Given the description of an element on the screen output the (x, y) to click on. 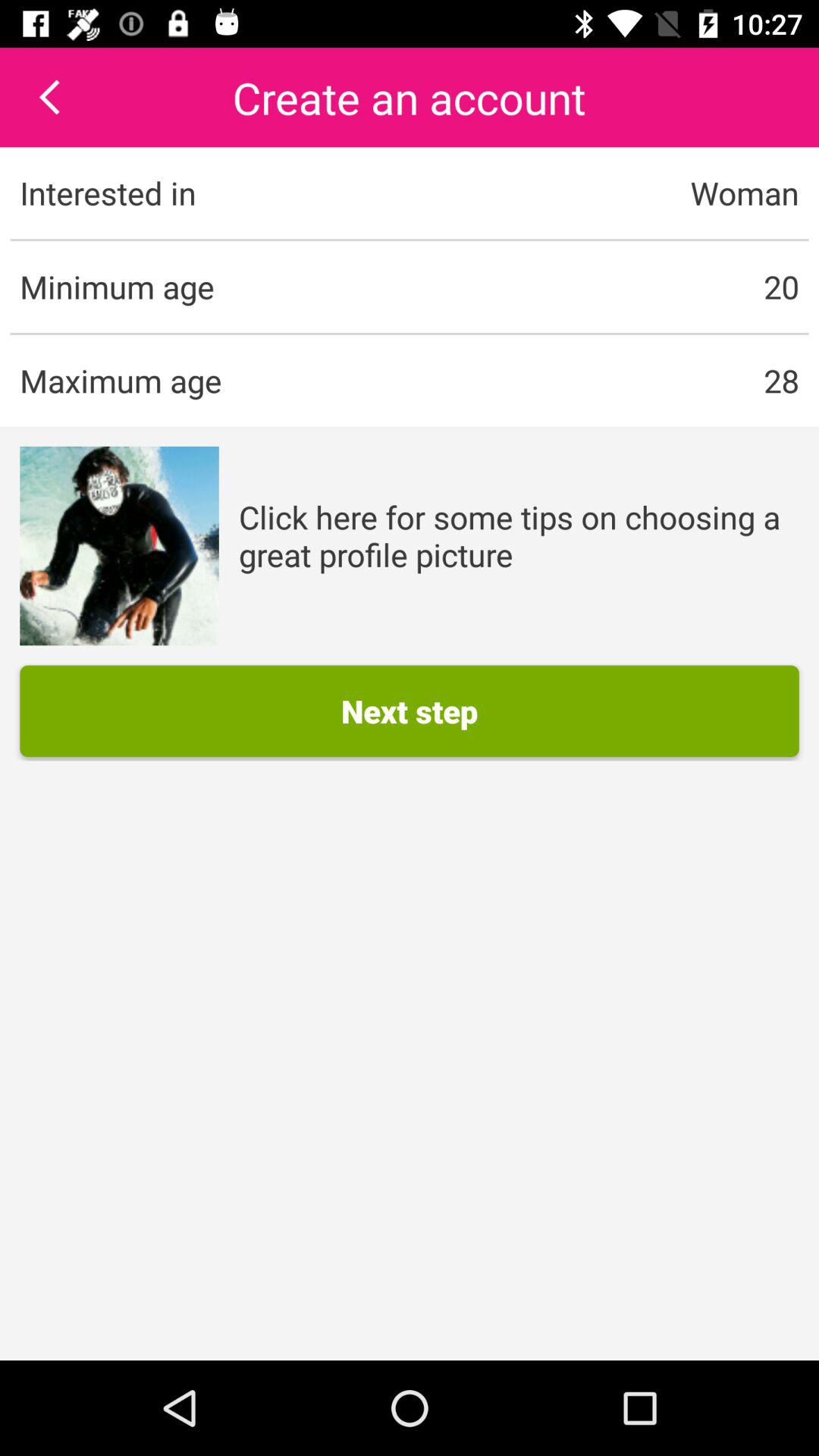
jump until the click here for item (518, 535)
